Given the description of an element on the screen output the (x, y) to click on. 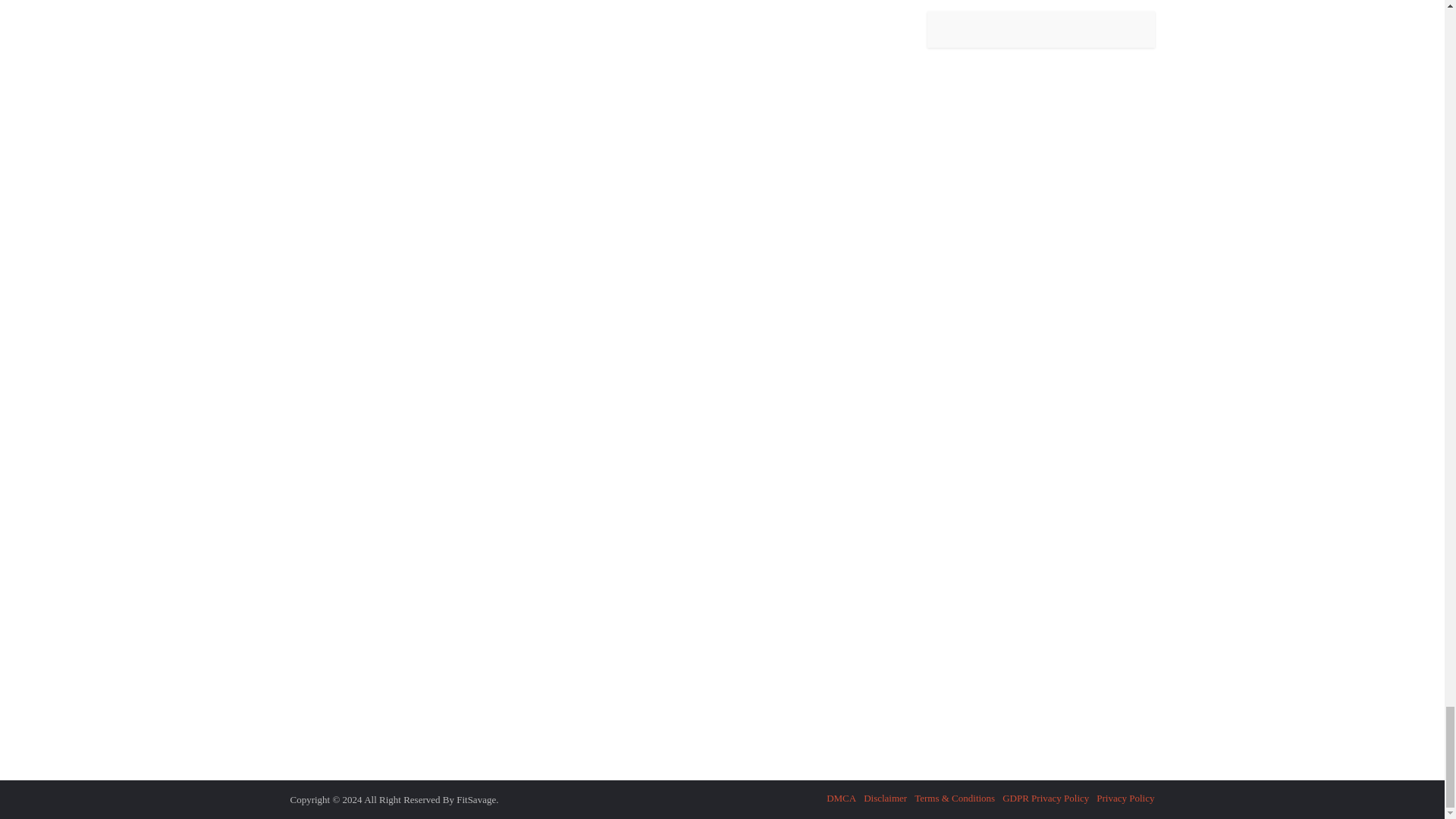
Disclaimer (885, 797)
DMCA (841, 797)
